Given the description of an element on the screen output the (x, y) to click on. 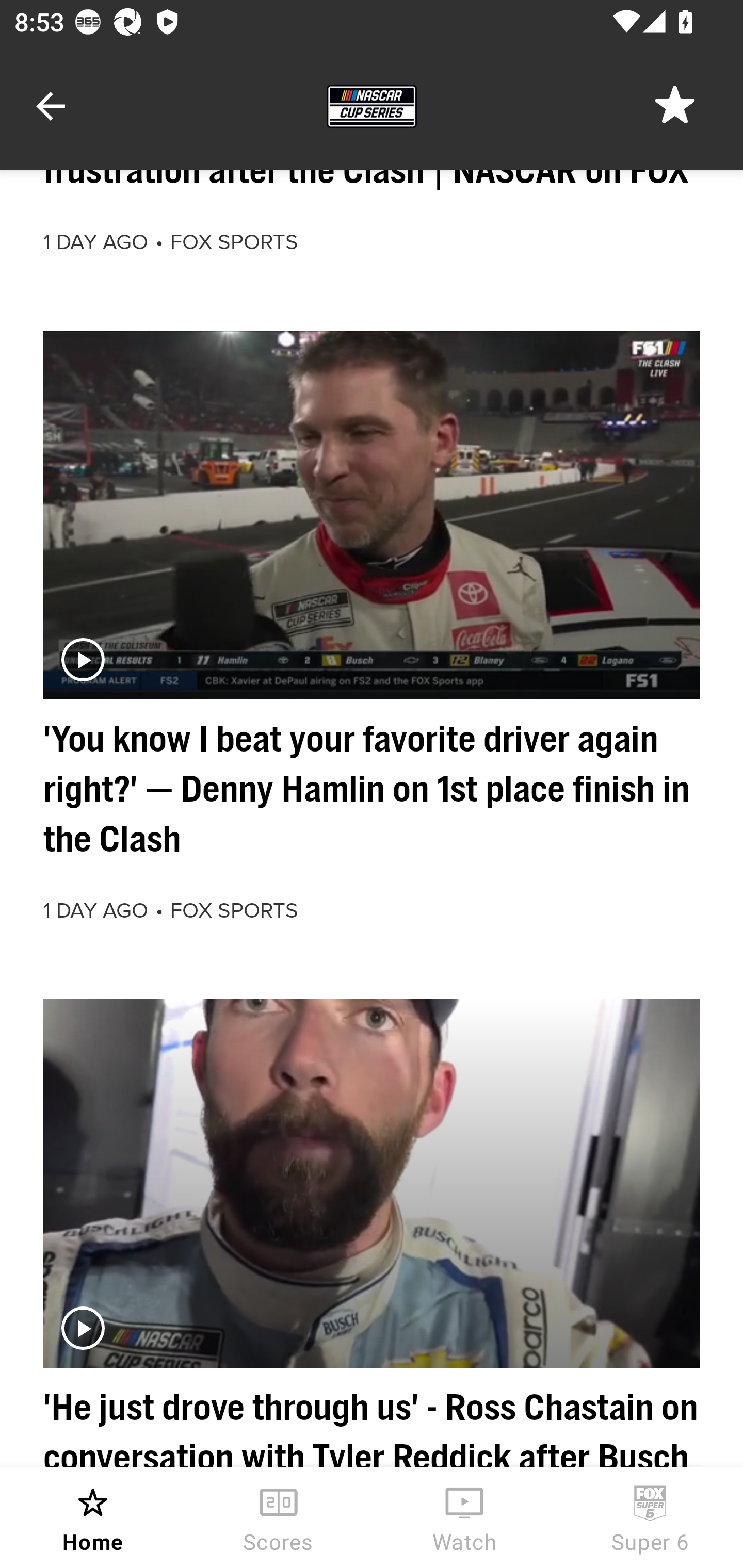
Navigate up (50, 106)
Scores (278, 1517)
Watch (464, 1517)
Super 6 (650, 1517)
